Given the description of an element on the screen output the (x, y) to click on. 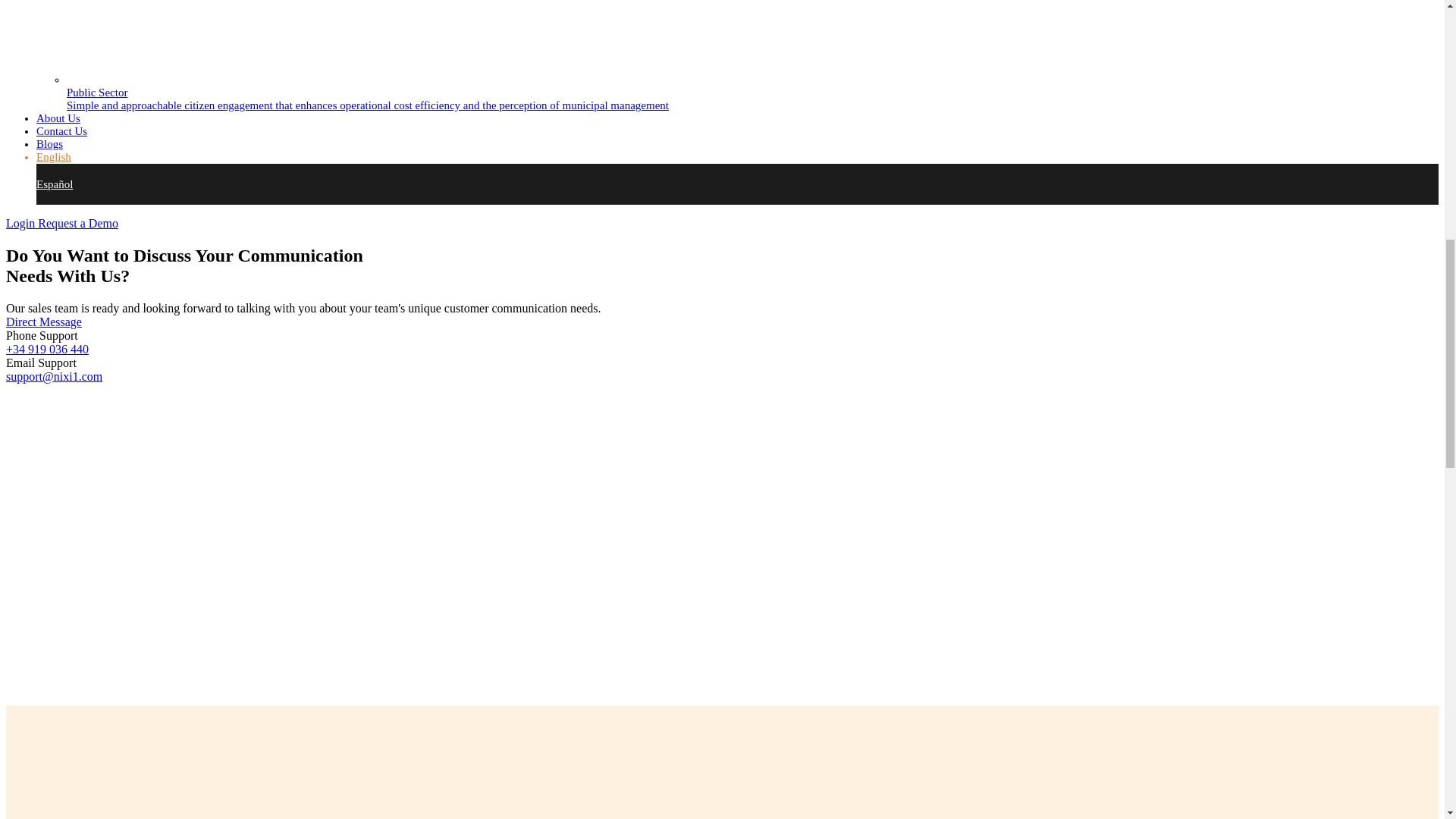
Login (21, 223)
Blogs (49, 143)
English (53, 156)
Request a Demo (77, 223)
Direct Message (43, 321)
Contact Us (61, 131)
English (53, 156)
About Us (58, 118)
